Given the description of an element on the screen output the (x, y) to click on. 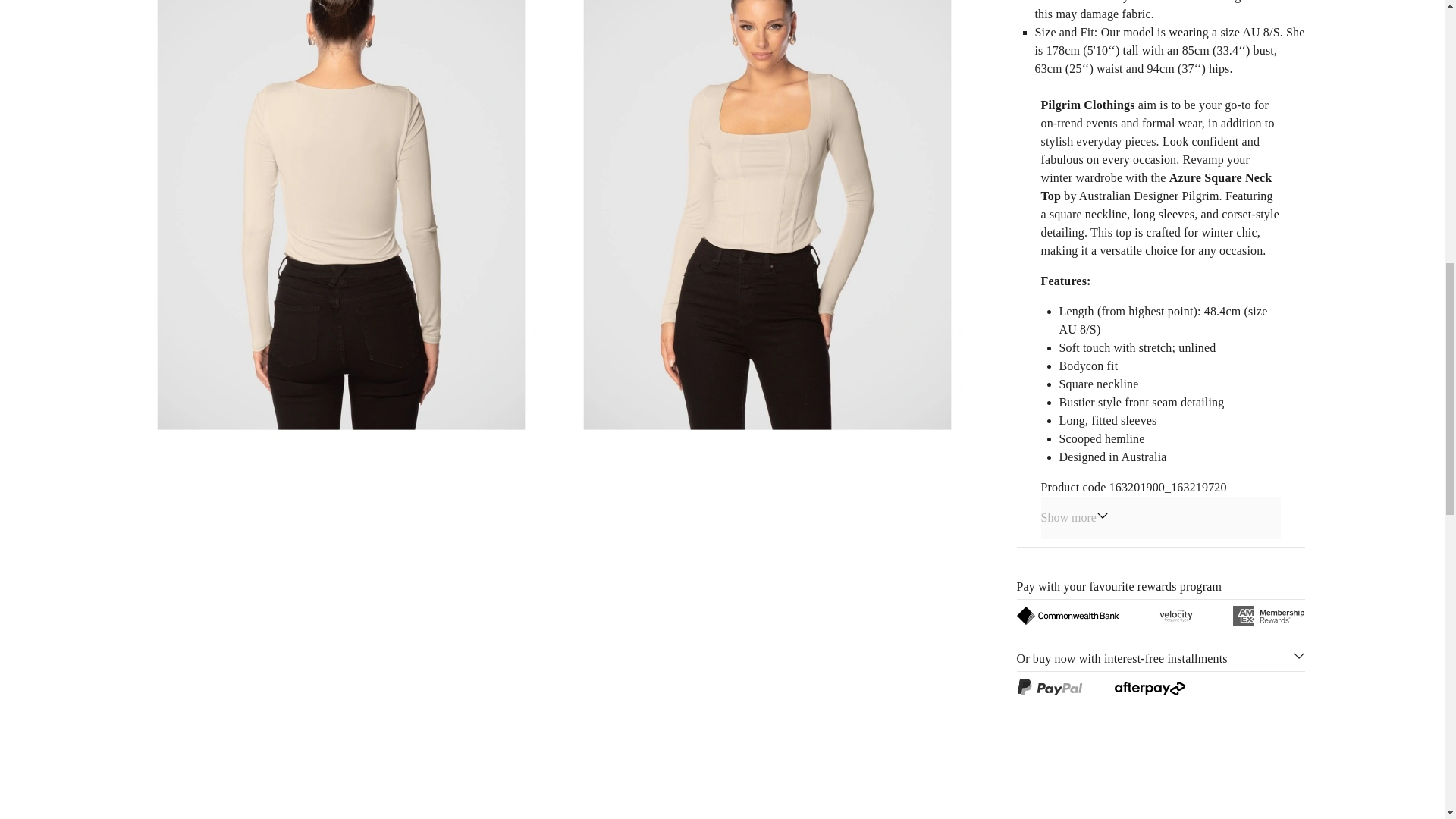
PayPal Pay in 4 (1048, 687)
